Given the description of an element on the screen output the (x, y) to click on. 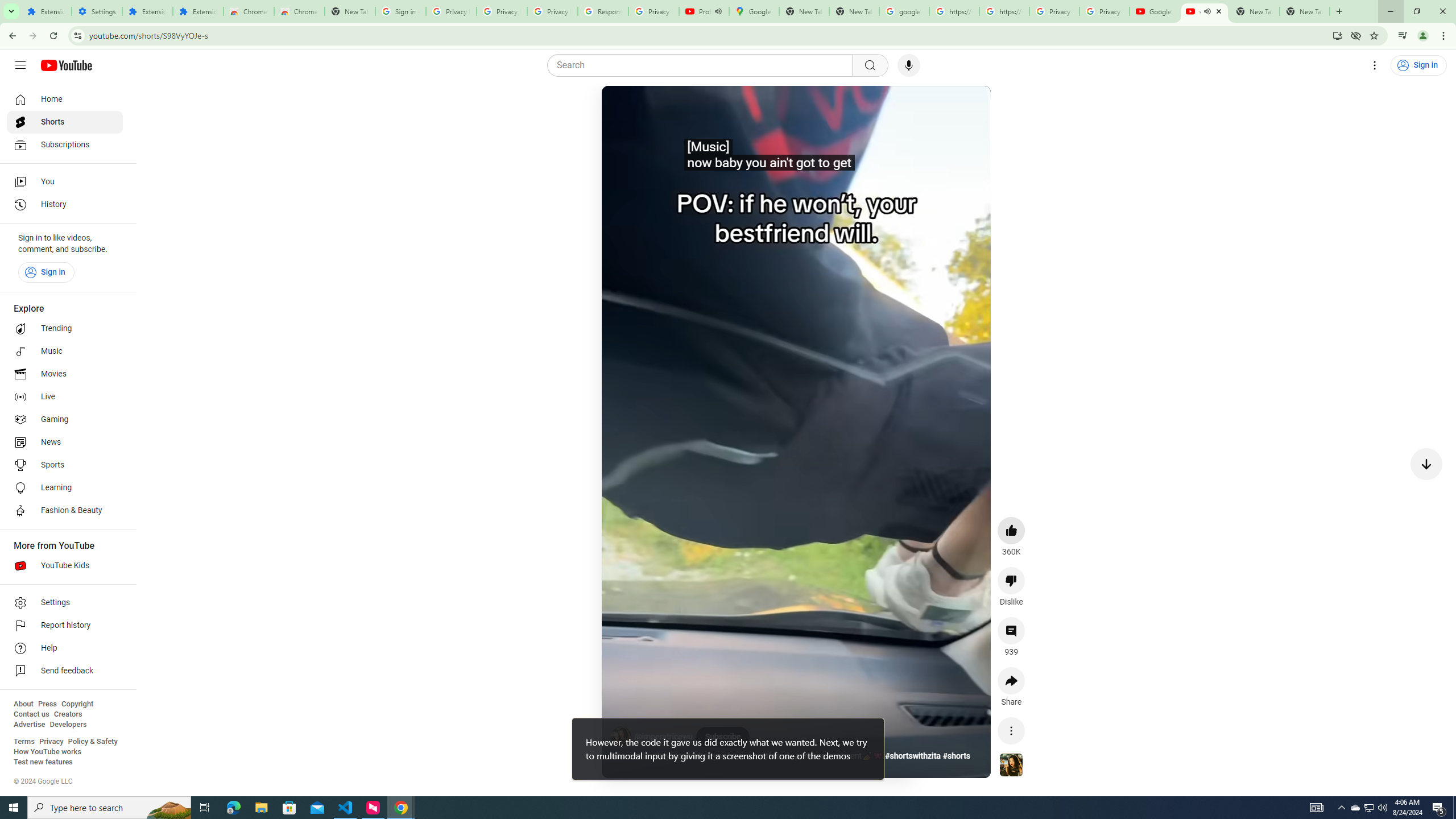
Search (703, 65)
Gaming (64, 419)
Subscribe (722, 736)
Trending (64, 328)
